Given the description of an element on the screen output the (x, y) to click on. 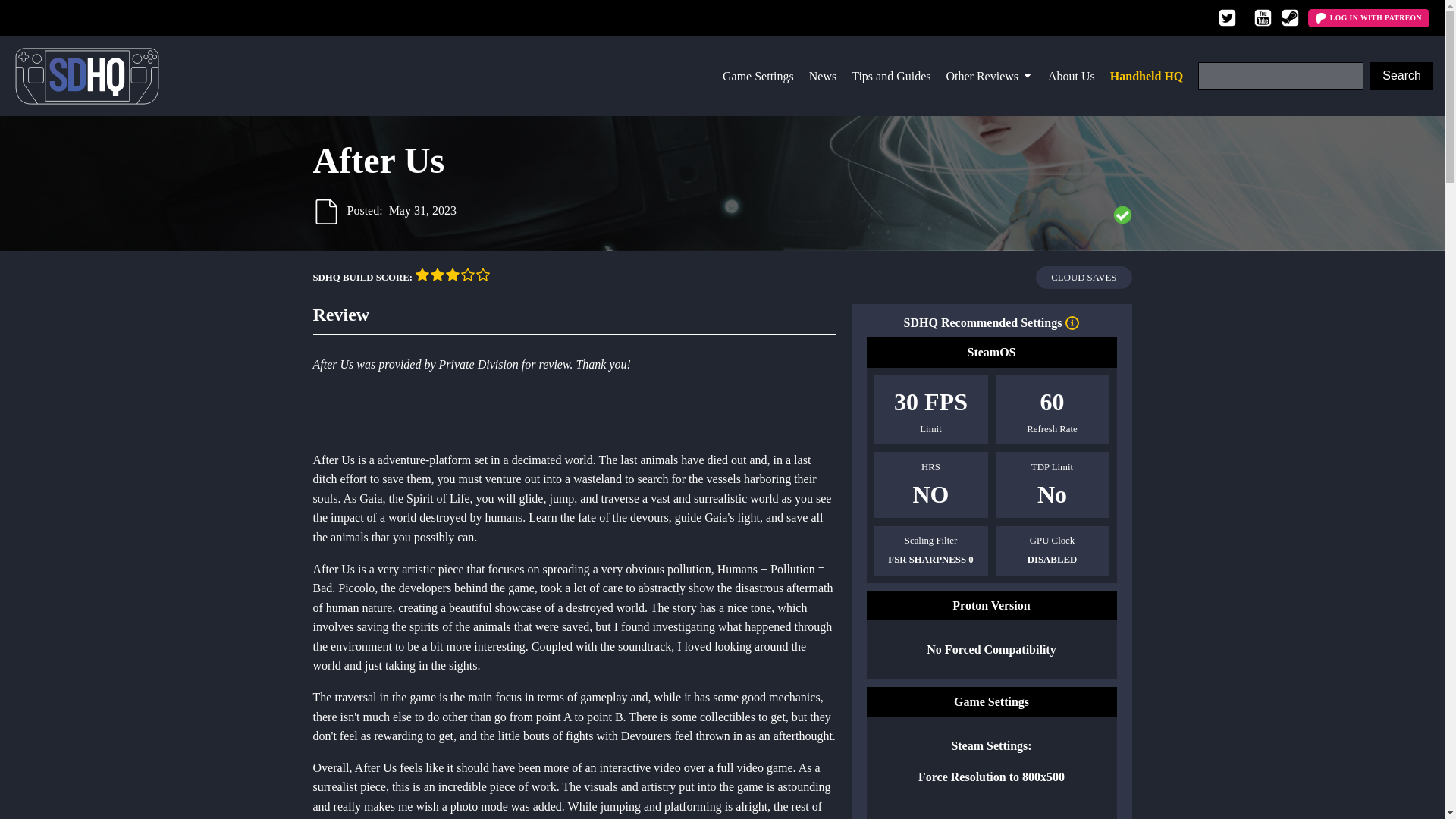
Handheld HQ (1146, 76)
Tips and Guides (890, 76)
News (823, 76)
LOG IN WITH PATREON (1368, 18)
About Us (1071, 76)
Game Settings (758, 76)
Other Reviews (990, 76)
Search (1401, 75)
Search (1401, 75)
